Given the description of an element on the screen output the (x, y) to click on. 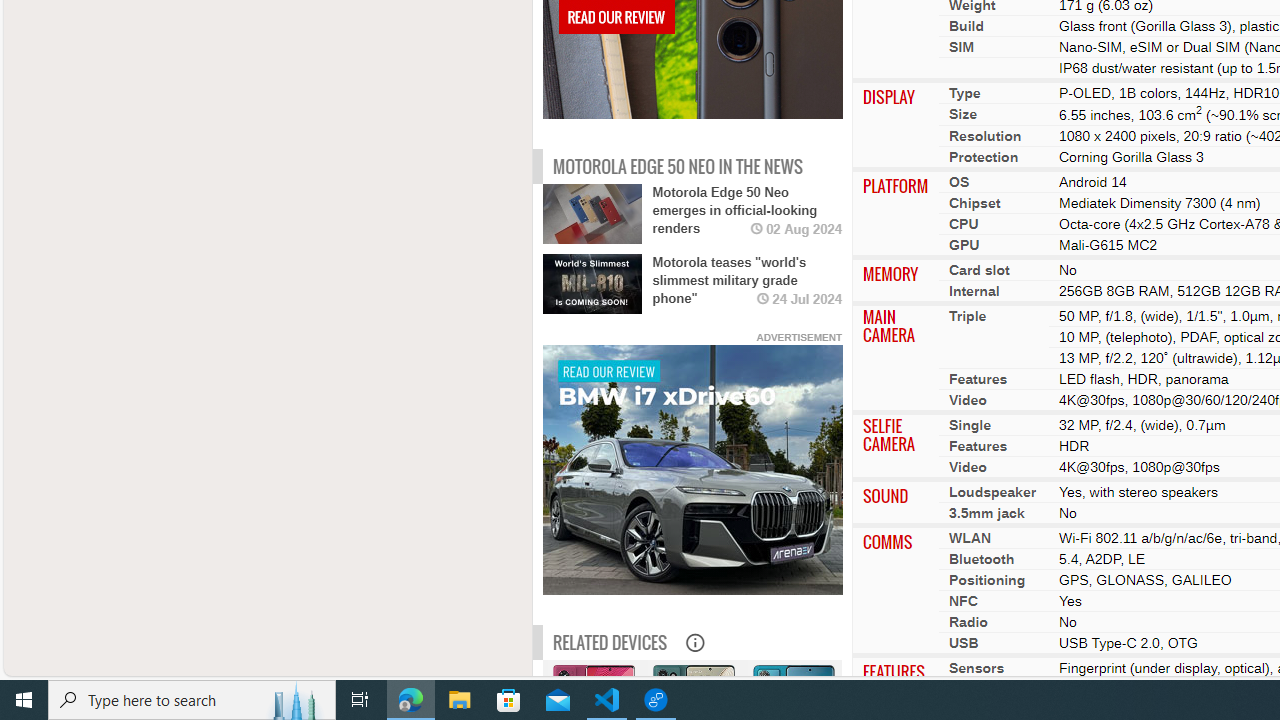
To get missing image descriptions, open the context menu. (692, 469)
CPU (963, 223)
RELATED DEVICES (610, 642)
Bluetooth (981, 558)
Chipset (974, 201)
Resolution (984, 135)
Triple (967, 315)
NFC (962, 600)
Size (962, 113)
Type (964, 92)
Positioning (987, 579)
SIM (961, 46)
